Given the description of an element on the screen output the (x, y) to click on. 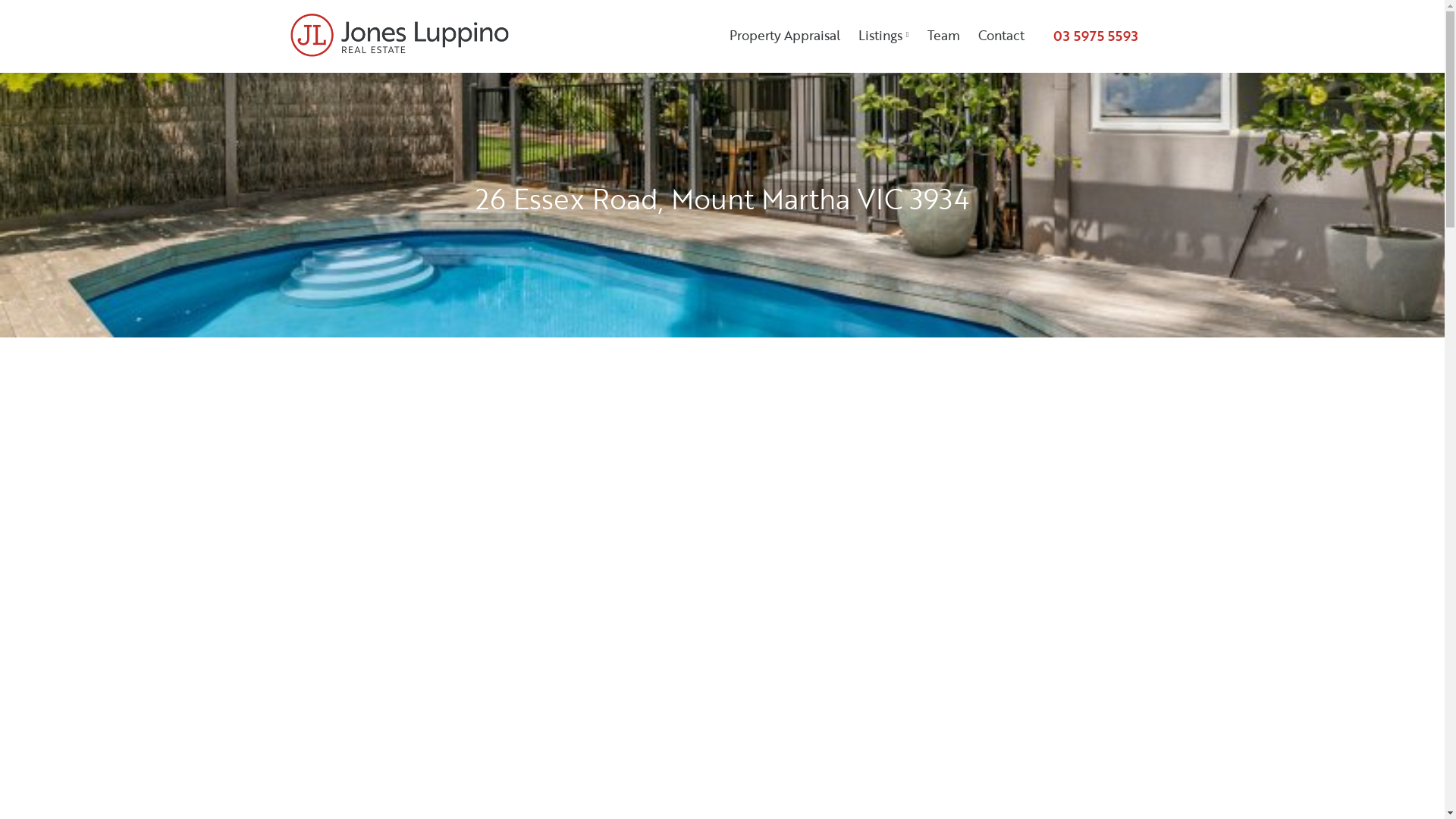
Jones Luppino Real Estate Element type: hover (399, 35)
Property Appraisal Element type: text (784, 35)
Contact Element type: text (1001, 35)
Team Element type: text (942, 35)
Listings Element type: text (883, 35)
